Given the description of an element on the screen output the (x, y) to click on. 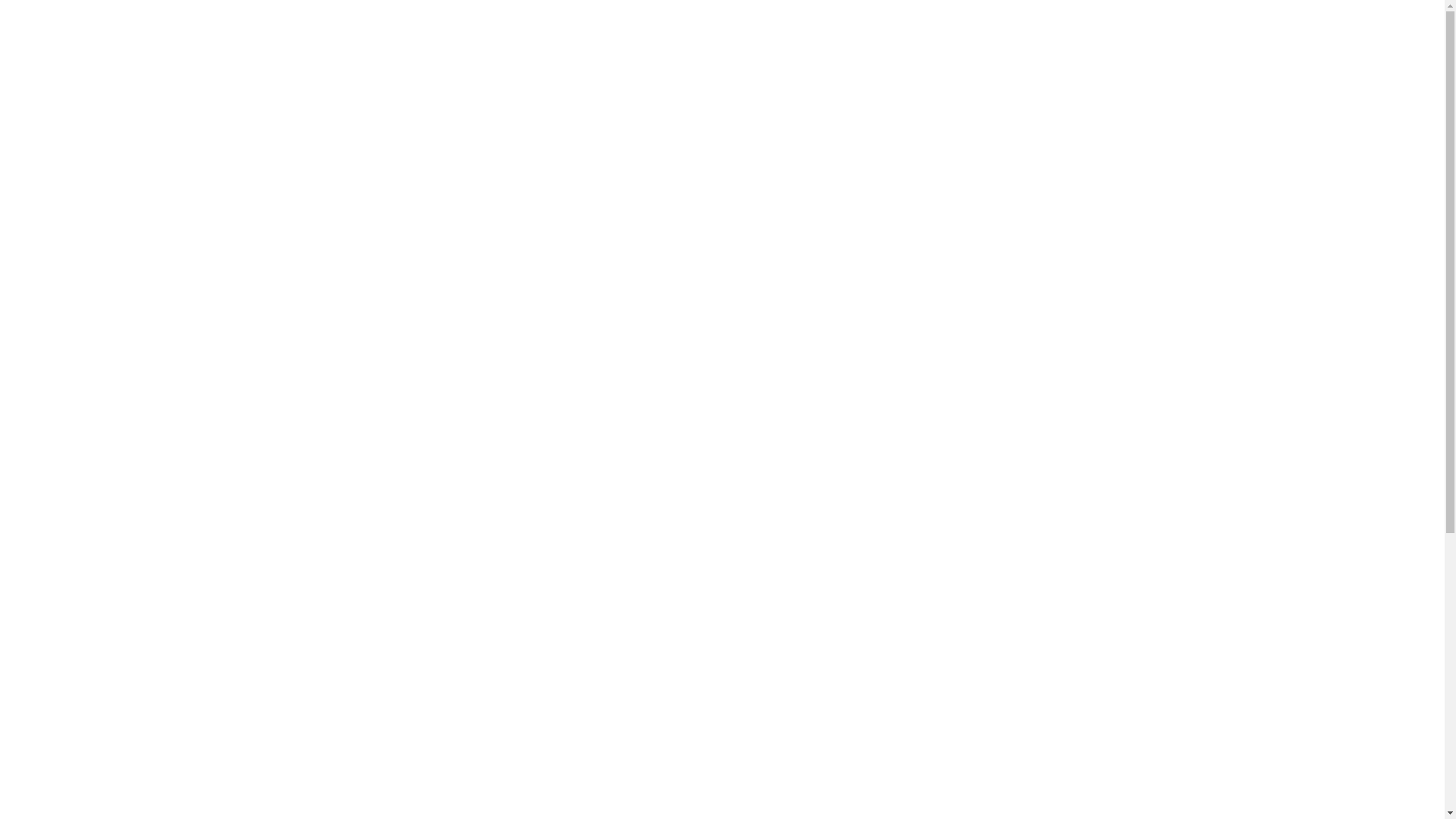
Home Element type: text (968, 101)
About Element type: text (1034, 101)
Commission a Song Element type: text (1201, 101)
Shop Element type: text (1098, 101)
